Given the description of an element on the screen output the (x, y) to click on. 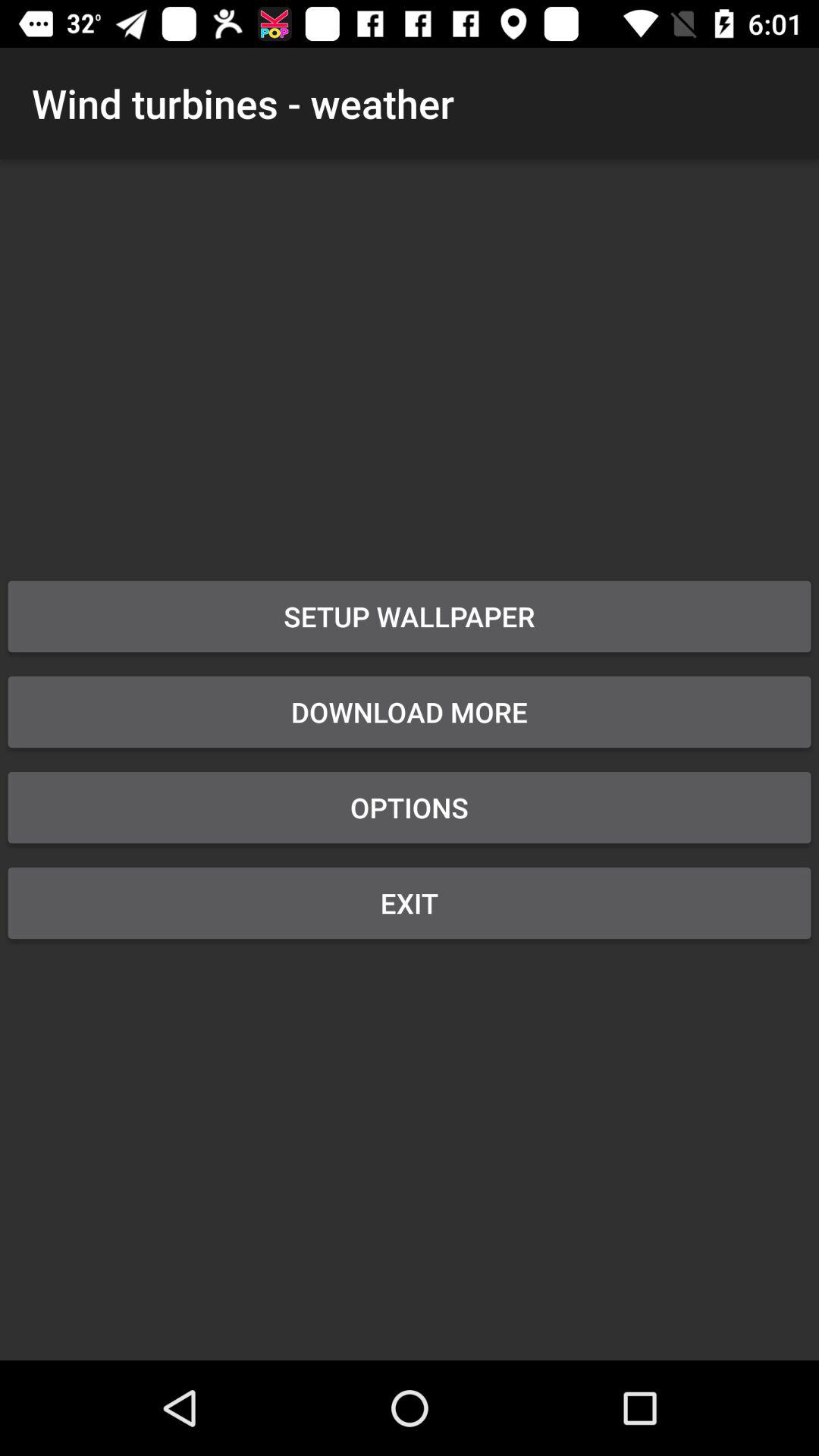
swipe until the exit (409, 902)
